Given the description of an element on the screen output the (x, y) to click on. 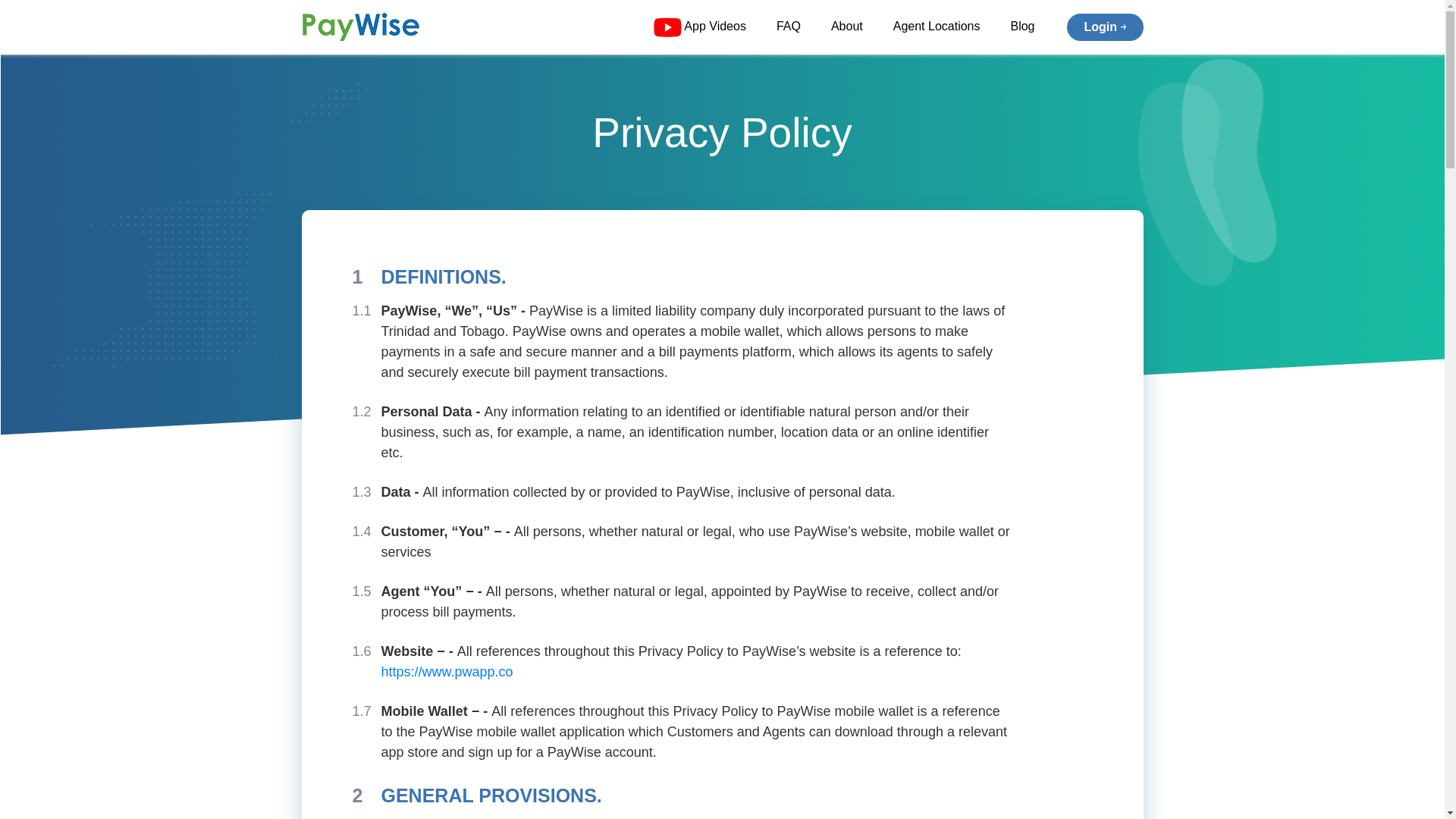
FAQ (788, 26)
About (847, 26)
Blog (1022, 26)
Login (1104, 26)
App Videos (697, 27)
Agent Locations (936, 26)
